Given the description of an element on the screen output the (x, y) to click on. 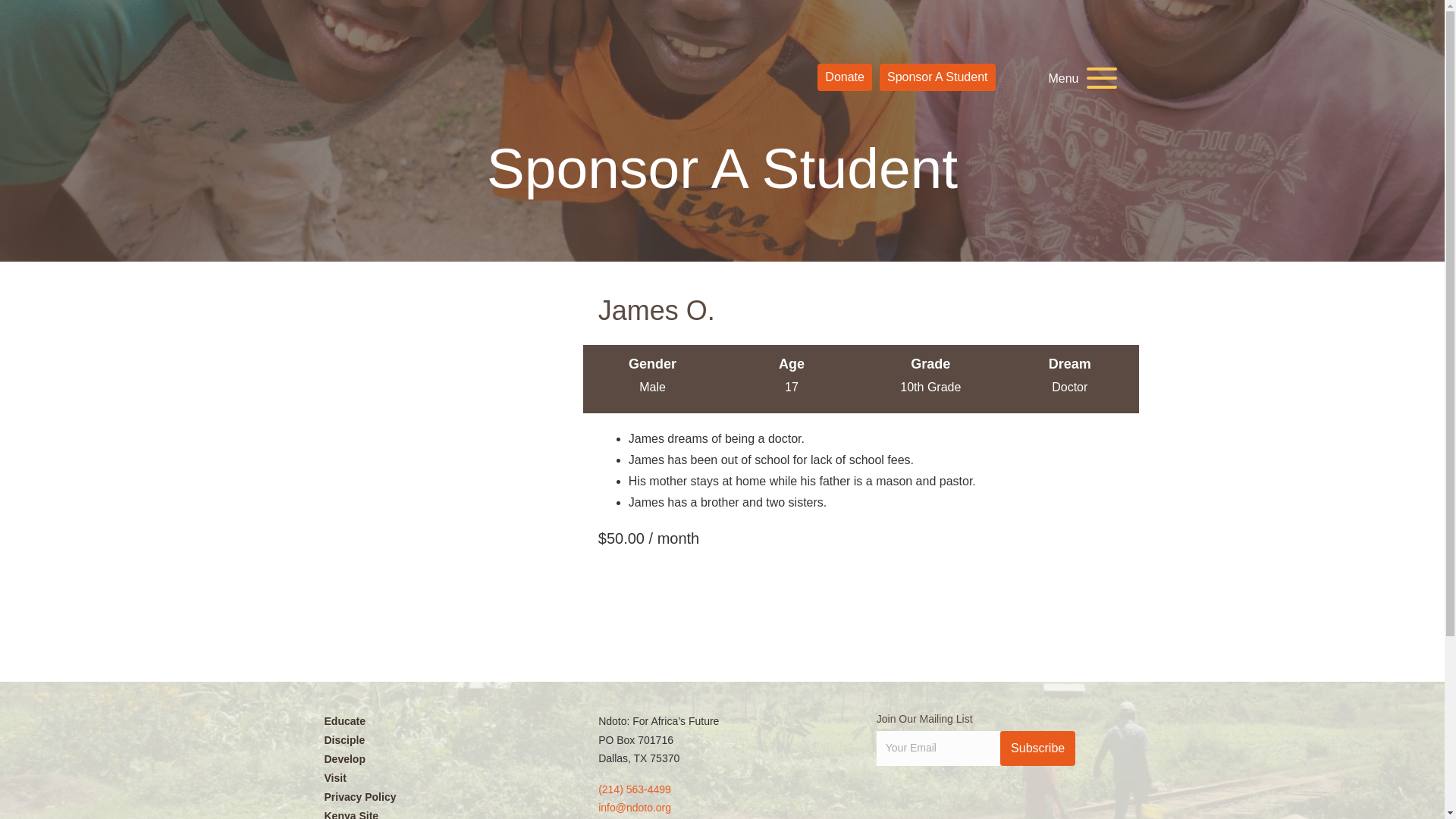
Kenya Site (443, 812)
Subscribe (1037, 748)
ECFA Accreditited (904, 800)
Visit (443, 778)
Click Here (1037, 748)
Donate (844, 76)
Guidestar Certification (972, 800)
Educate (443, 720)
Privacy Policy (443, 796)
Develop (443, 759)
